Given the description of an element on the screen output the (x, y) to click on. 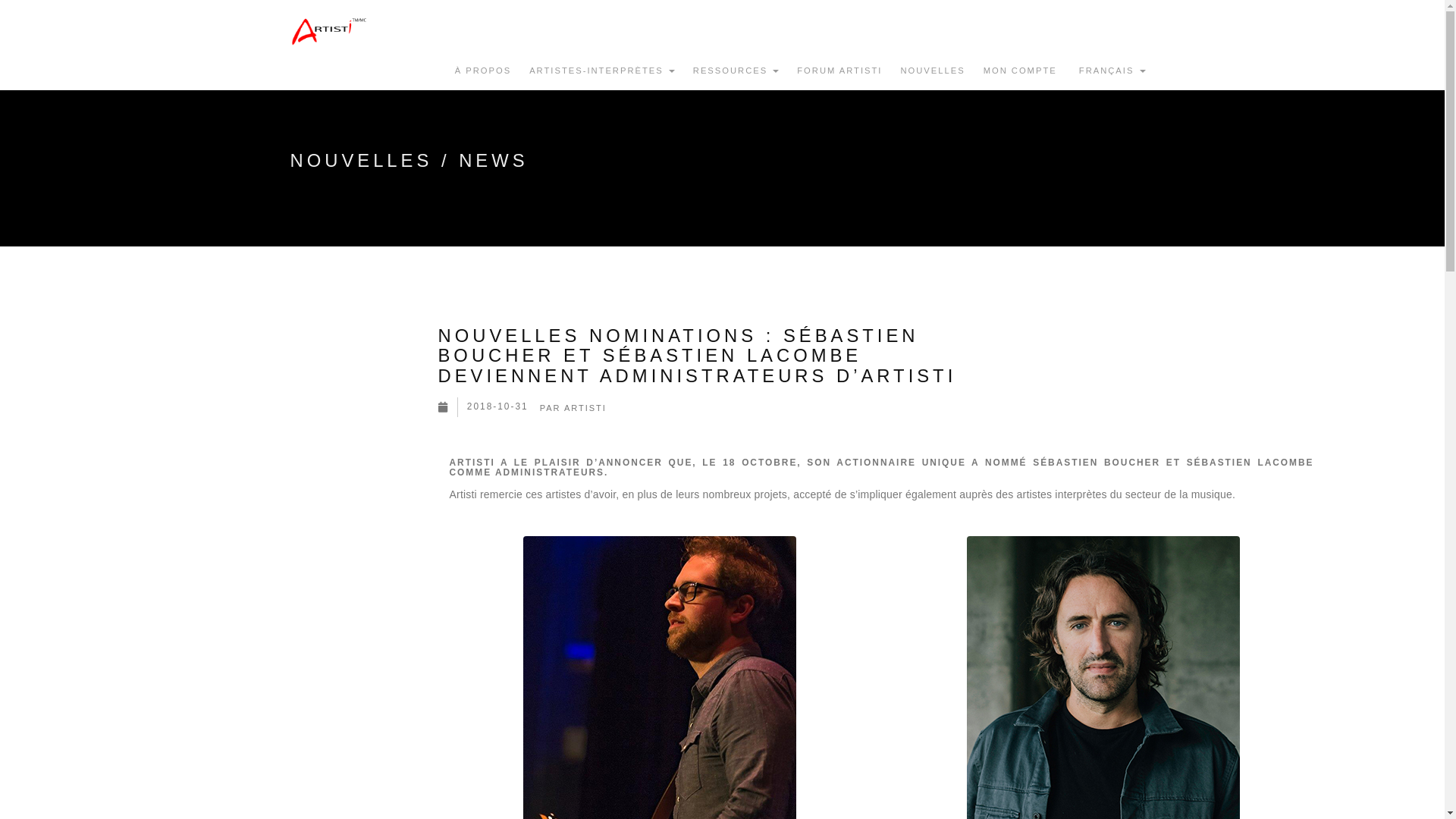
RESSOURCES Element type: text (735, 70)
NOUVELLES Element type: text (932, 70)
FORUM ARTISTI Element type: text (839, 70)
MON COMPTE Element type: text (1020, 70)
ARTISTI Element type: text (585, 407)
